Given the description of an element on the screen output the (x, y) to click on. 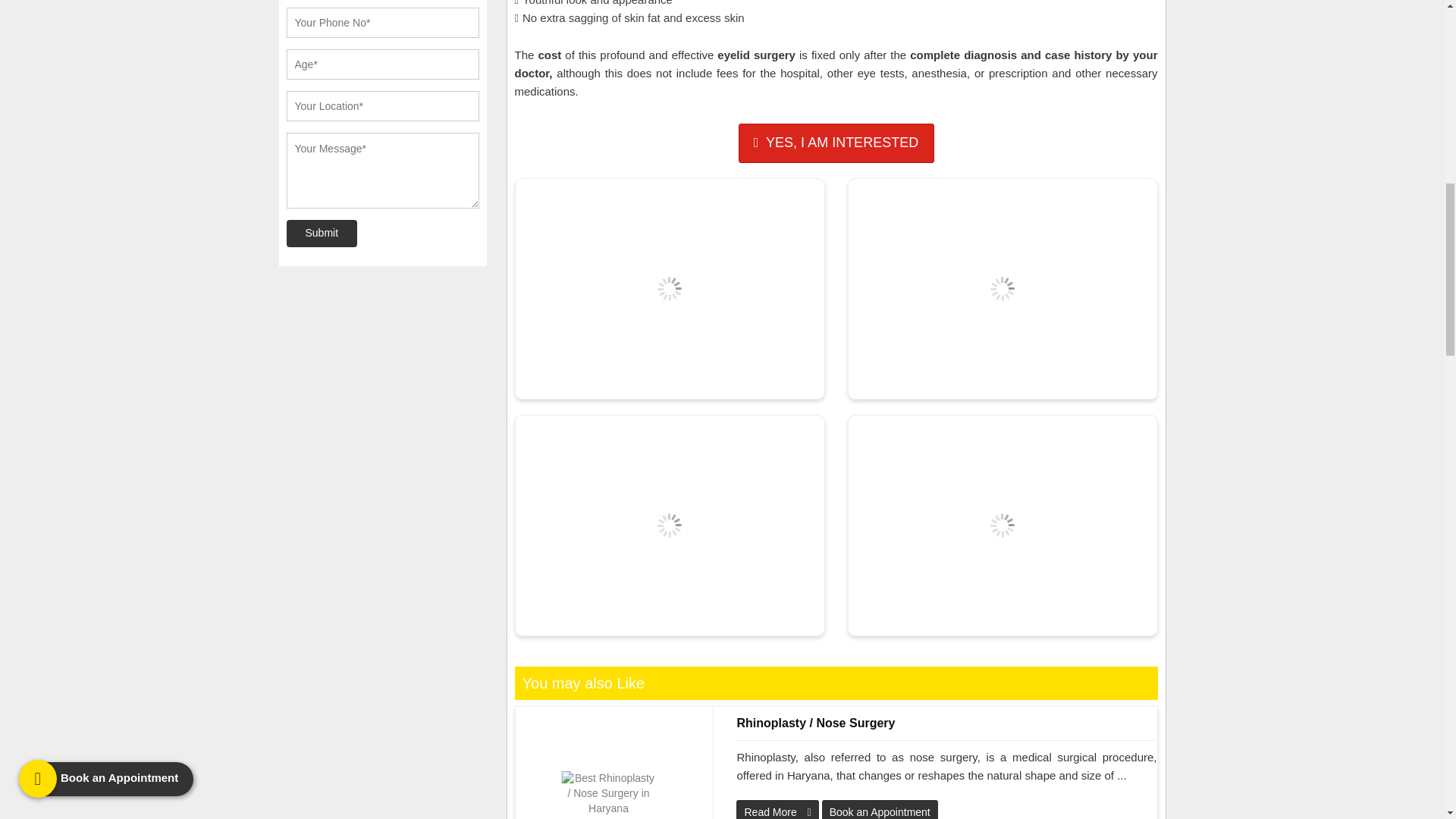
Book an Appointment (879, 809)
Read More (777, 809)
Blepharoplasty (1002, 288)
YES, I AM INTERESTED (836, 142)
Blepharoplasty (669, 525)
Blepharoplasty (669, 288)
Book an Appointment (836, 142)
